Given the description of an element on the screen output the (x, y) to click on. 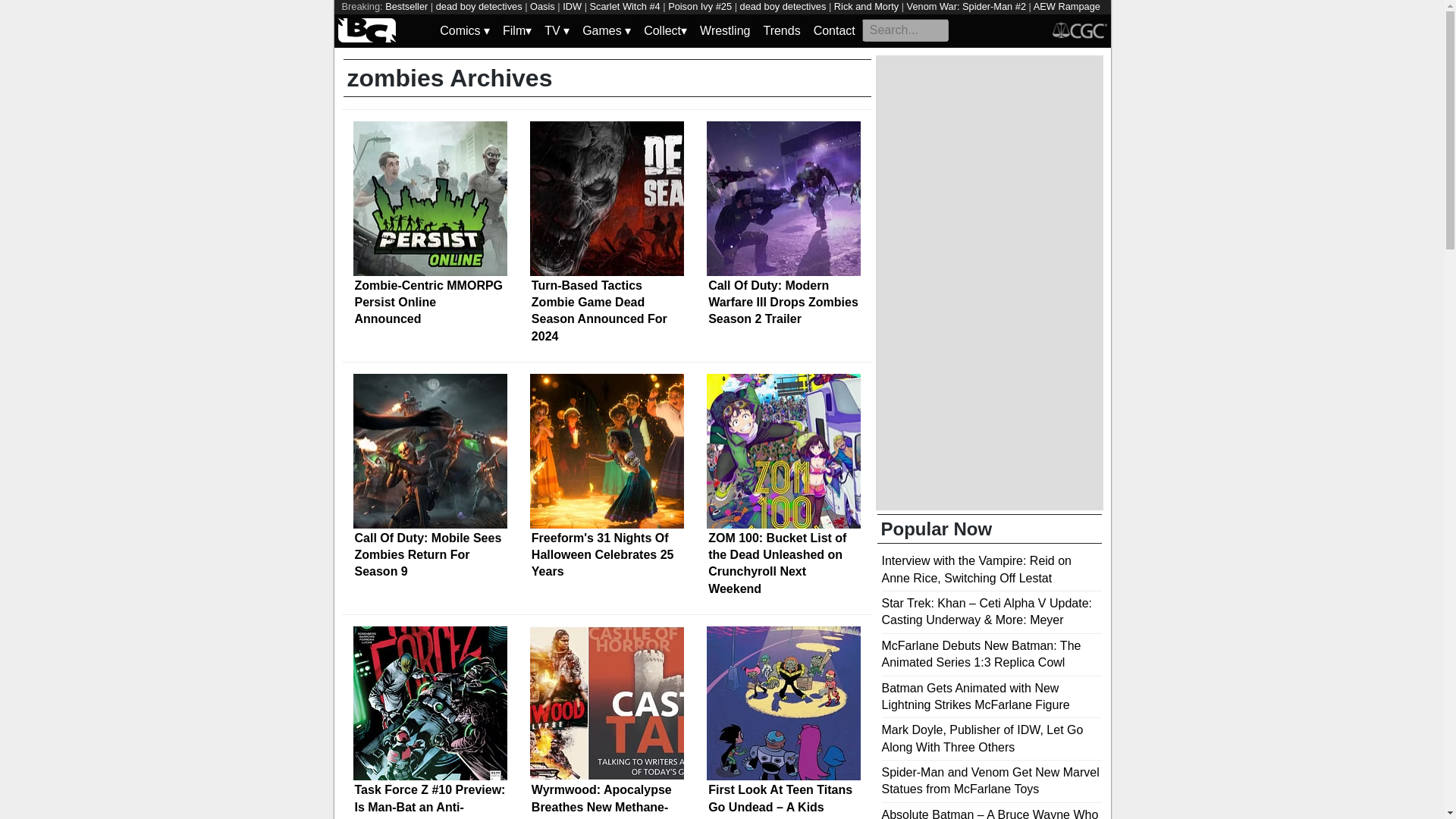
Toggle Dropdown (516, 30)
Rick and Morty (866, 6)
Bestseller (406, 6)
IDW (571, 6)
Toggle Dropdown (665, 30)
Transformers (802, 19)
the penguin (437, 19)
dead boy detectives (478, 6)
AEW Rampage (1066, 6)
dead boy detectives (783, 6)
